Given the description of an element on the screen output the (x, y) to click on. 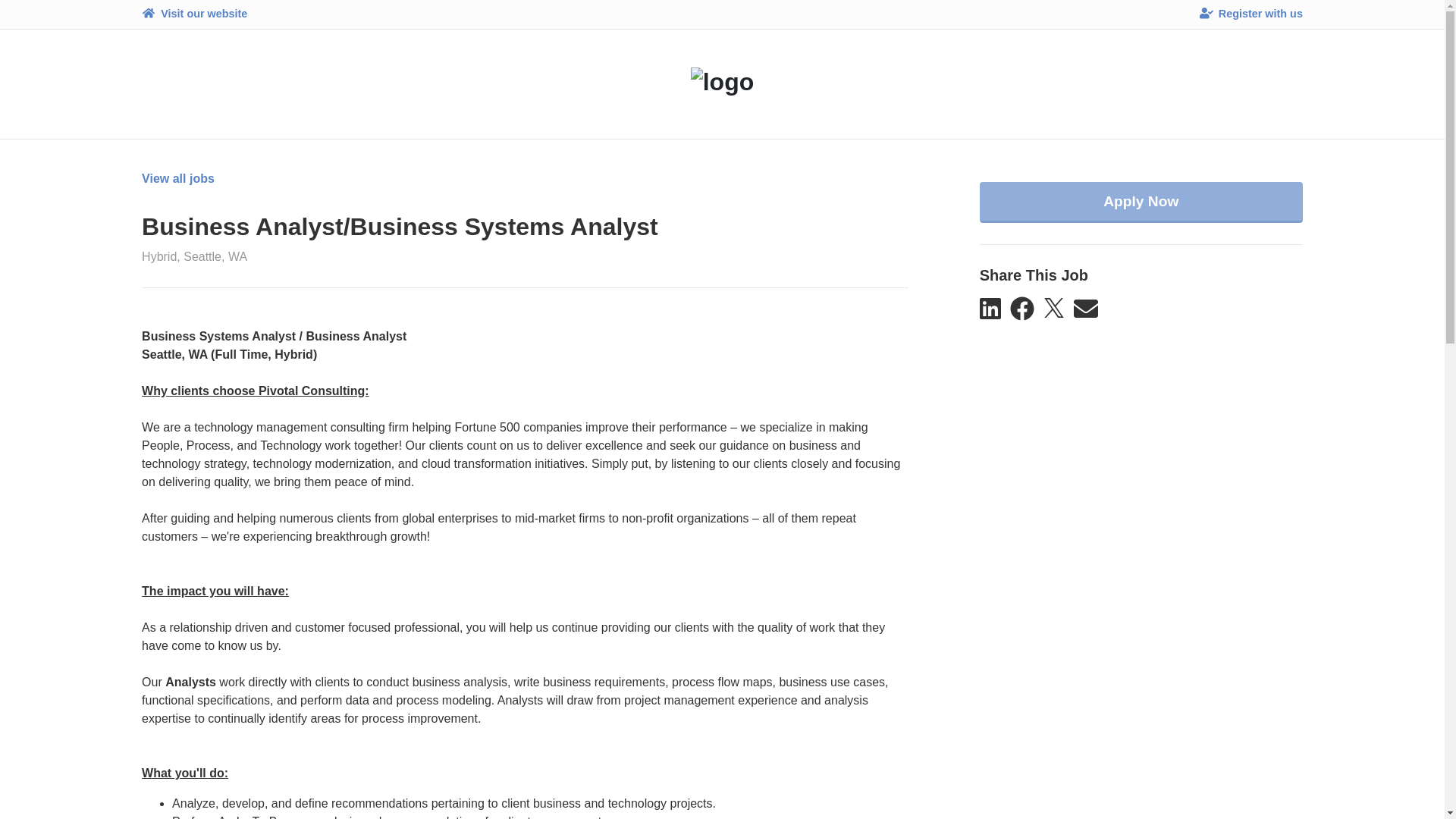
View all jobs (177, 262)
Apply Now (1141, 285)
Visit our website (194, 13)
Register with us (1251, 13)
